Given the description of an element on the screen output the (x, y) to click on. 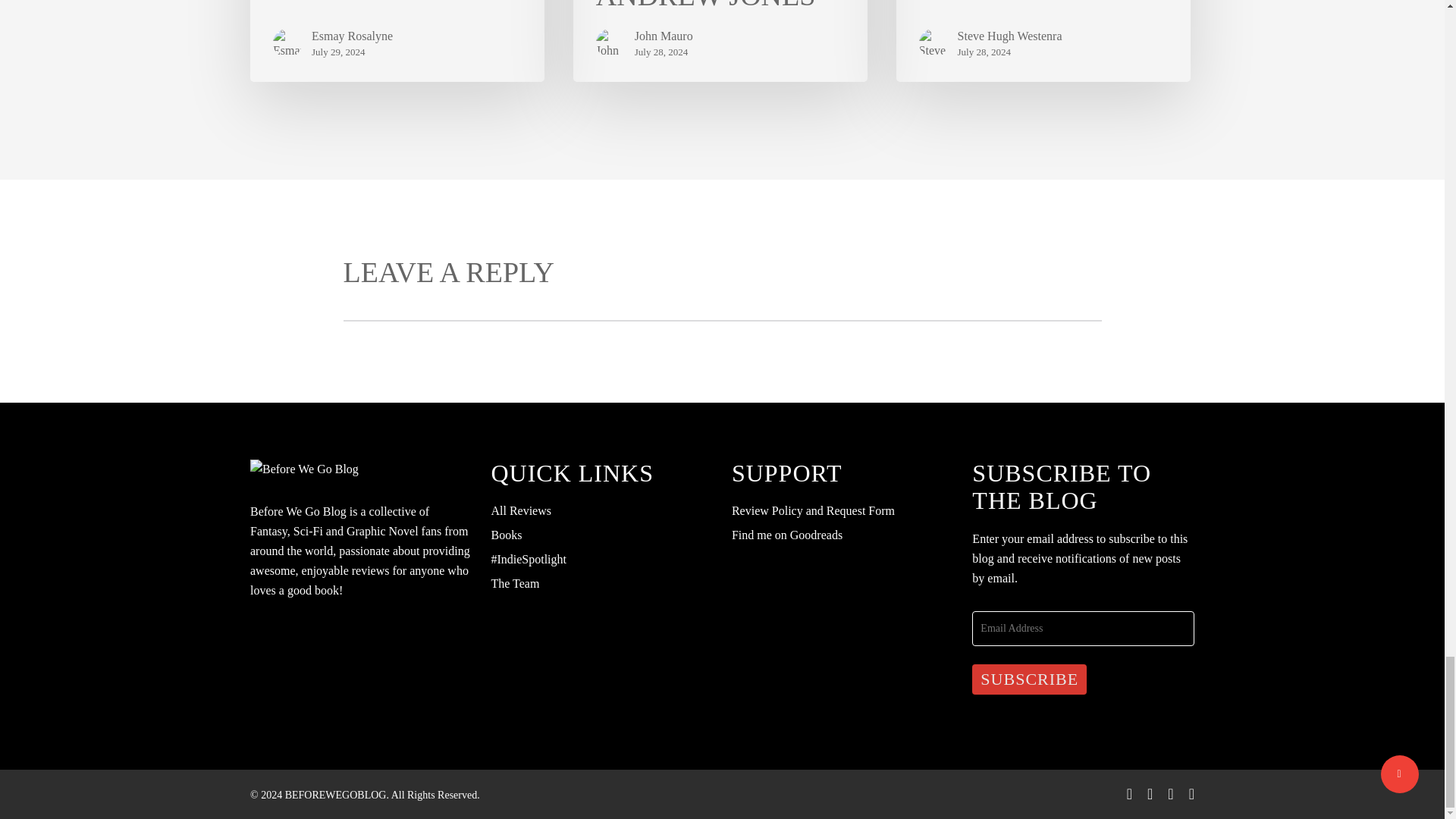
Review: Eagles Fall by L.R. Schulz (397, 40)
Esmay Rosalyne (352, 36)
Subscribe (1029, 679)
